Given the description of an element on the screen output the (x, y) to click on. 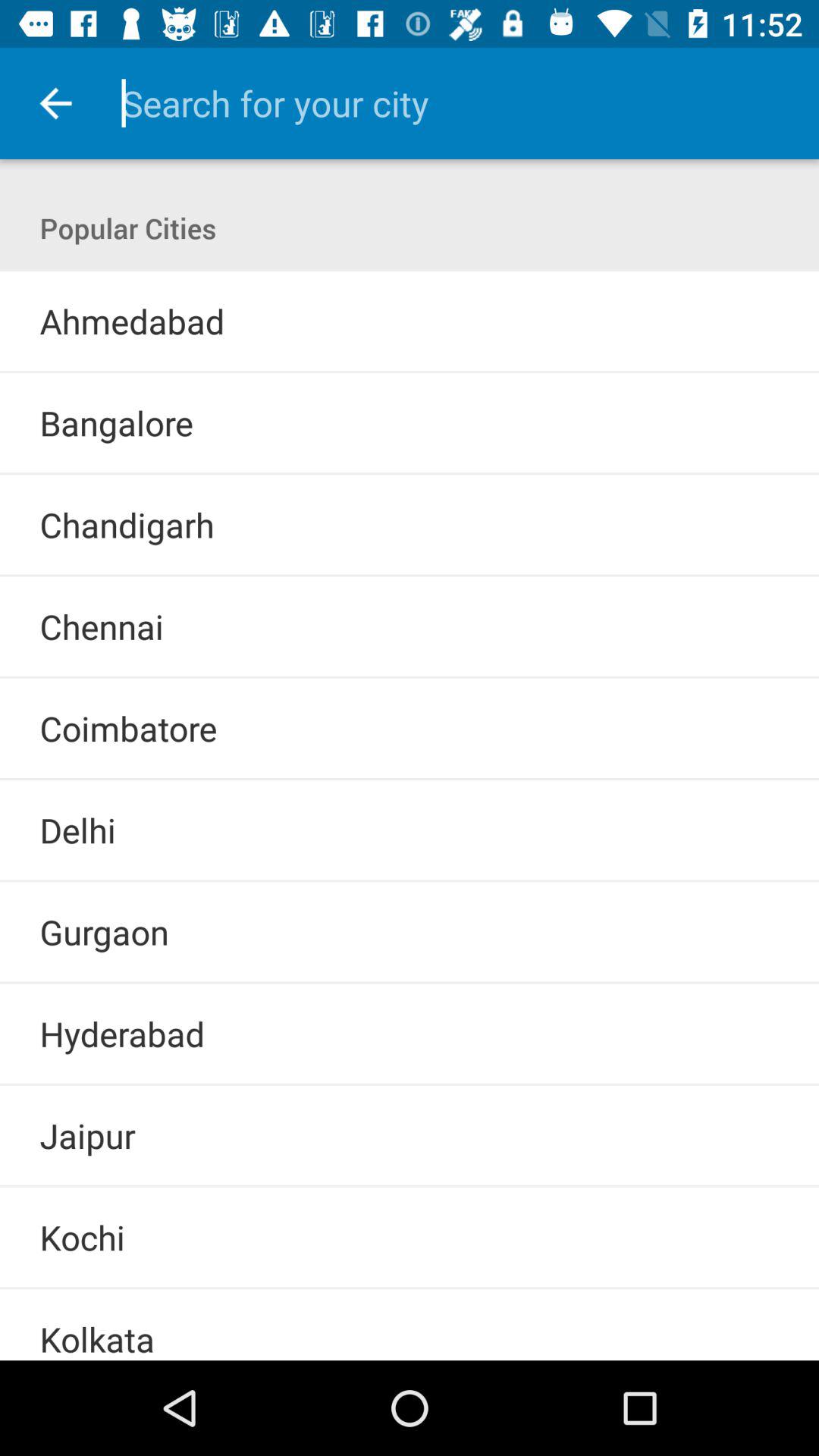
turn off the icon above the bangalore (409, 371)
